Given the description of an element on the screen output the (x, y) to click on. 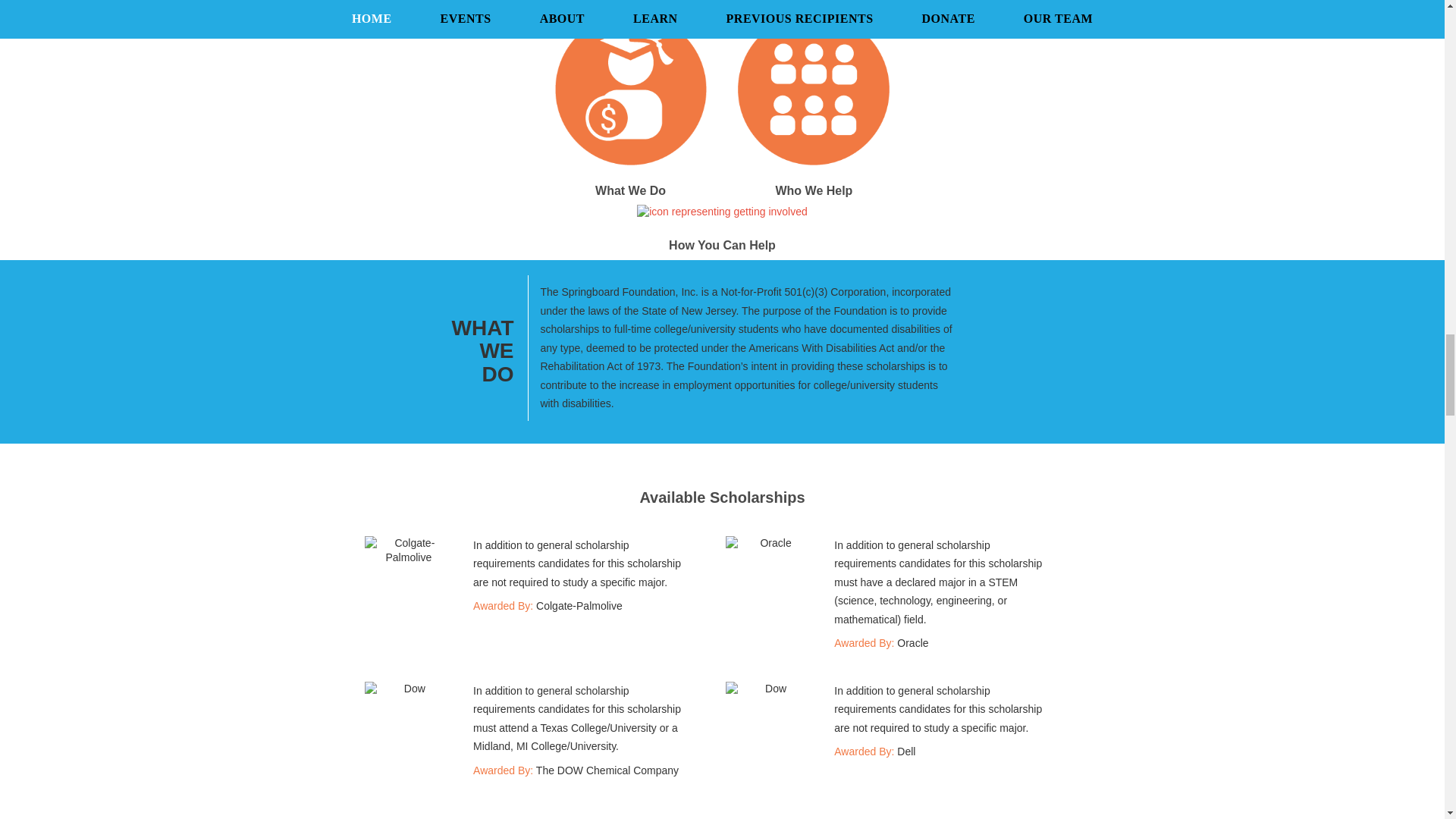
What We Do (630, 139)
How You Can Help (722, 228)
Who We Help (813, 139)
Who We Help (813, 139)
What We Do (630, 139)
How You Can Help (722, 228)
